Given the description of an element on the screen output the (x, y) to click on. 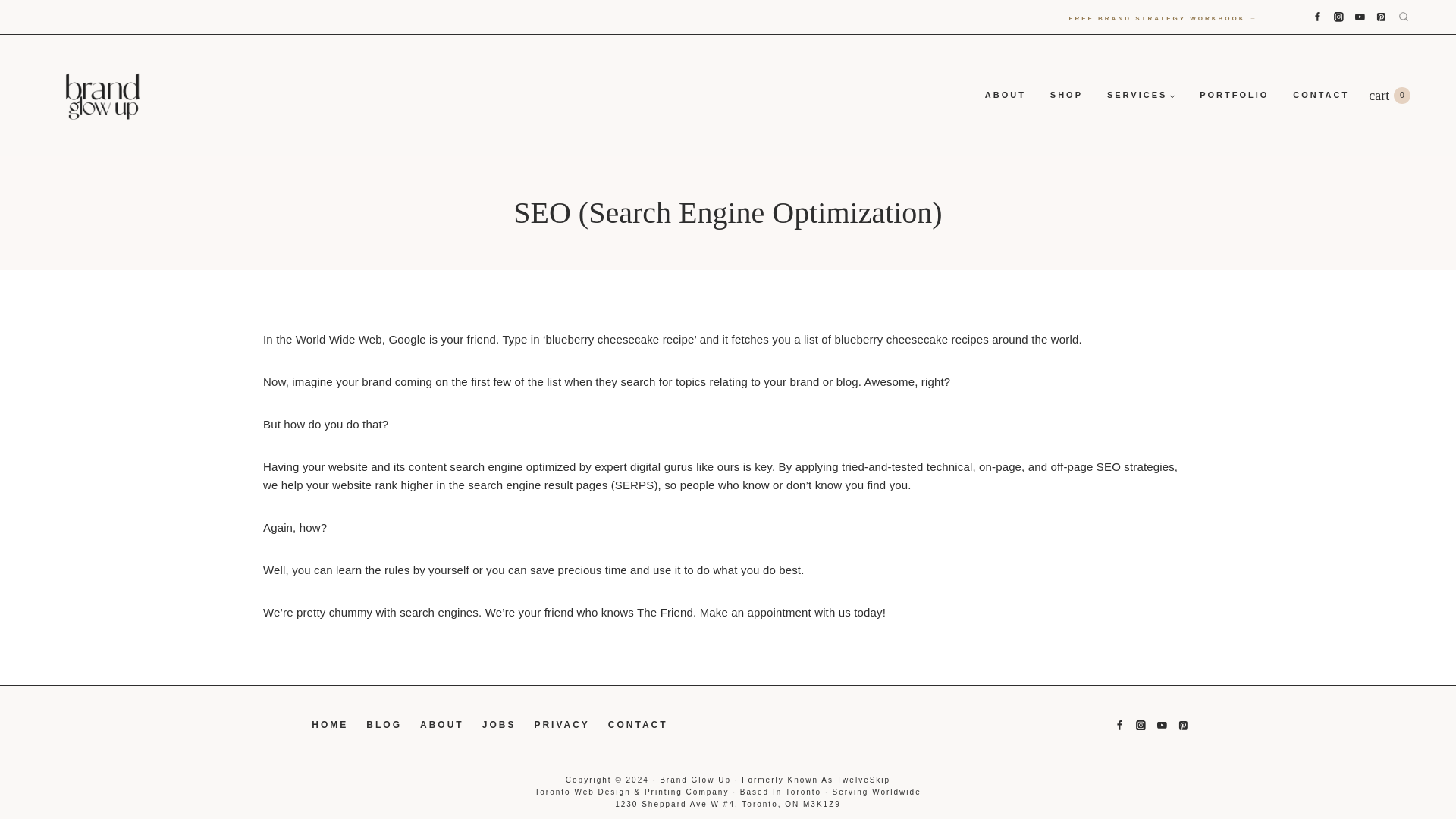
HOME (329, 725)
CONTACT (637, 725)
PORTFOLIO (1234, 95)
ABOUT (1005, 95)
ABOUT (441, 725)
SERVICES (1396, 96)
SHOP (1141, 95)
JOBS (1066, 95)
CONTACT (499, 725)
